Given the description of an element on the screen output the (x, y) to click on. 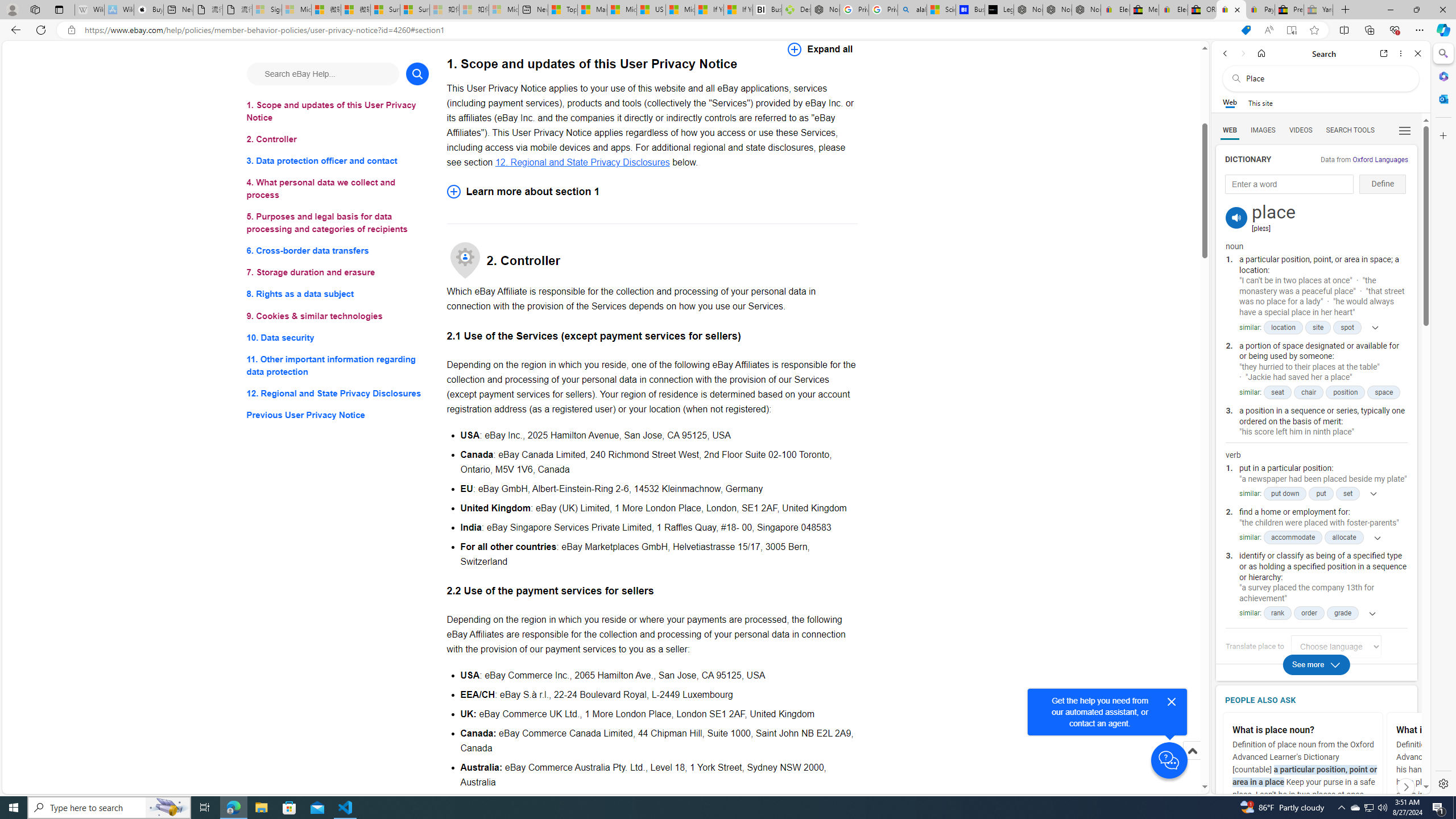
pronounce (1236, 217)
Open link in new tab (1383, 53)
Learn more about section 1 (651, 191)
Top Stories - MSN (562, 9)
Descarga Driver Updater (796, 9)
seat (1277, 392)
Forward (1242, 53)
7. Storage duration and erasure (337, 272)
order (1309, 613)
1. Scope and updates of this User Privacy Notice (337, 111)
